Given the description of an element on the screen output the (x, y) to click on. 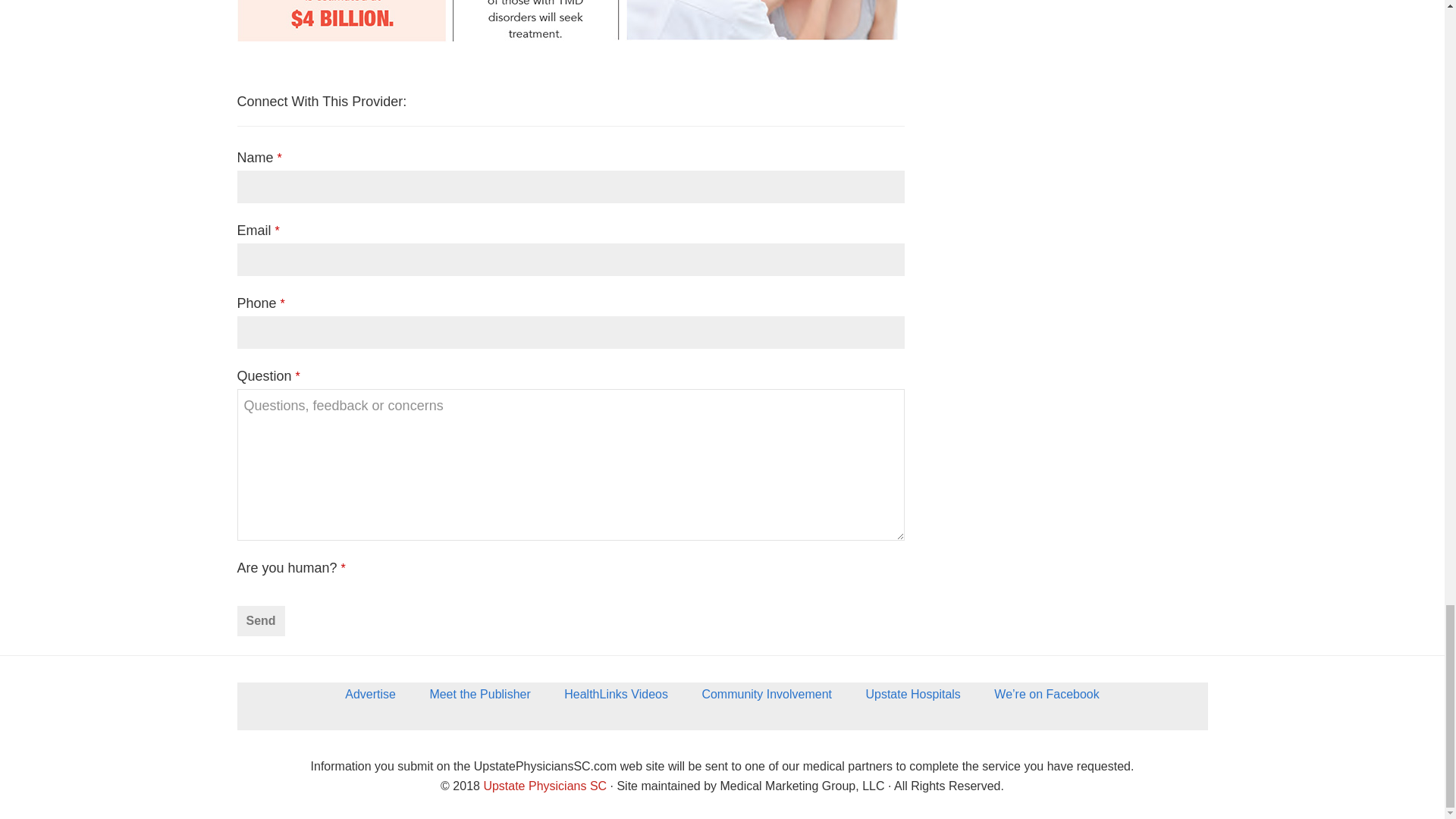
Community Involvement (766, 698)
Send (259, 621)
Meet the Publisher (478, 698)
HealthLinks Videos (615, 698)
Upstate Physicians SC (545, 785)
Upstate Hospitals (912, 698)
Advertise (370, 698)
